Given the description of an element on the screen output the (x, y) to click on. 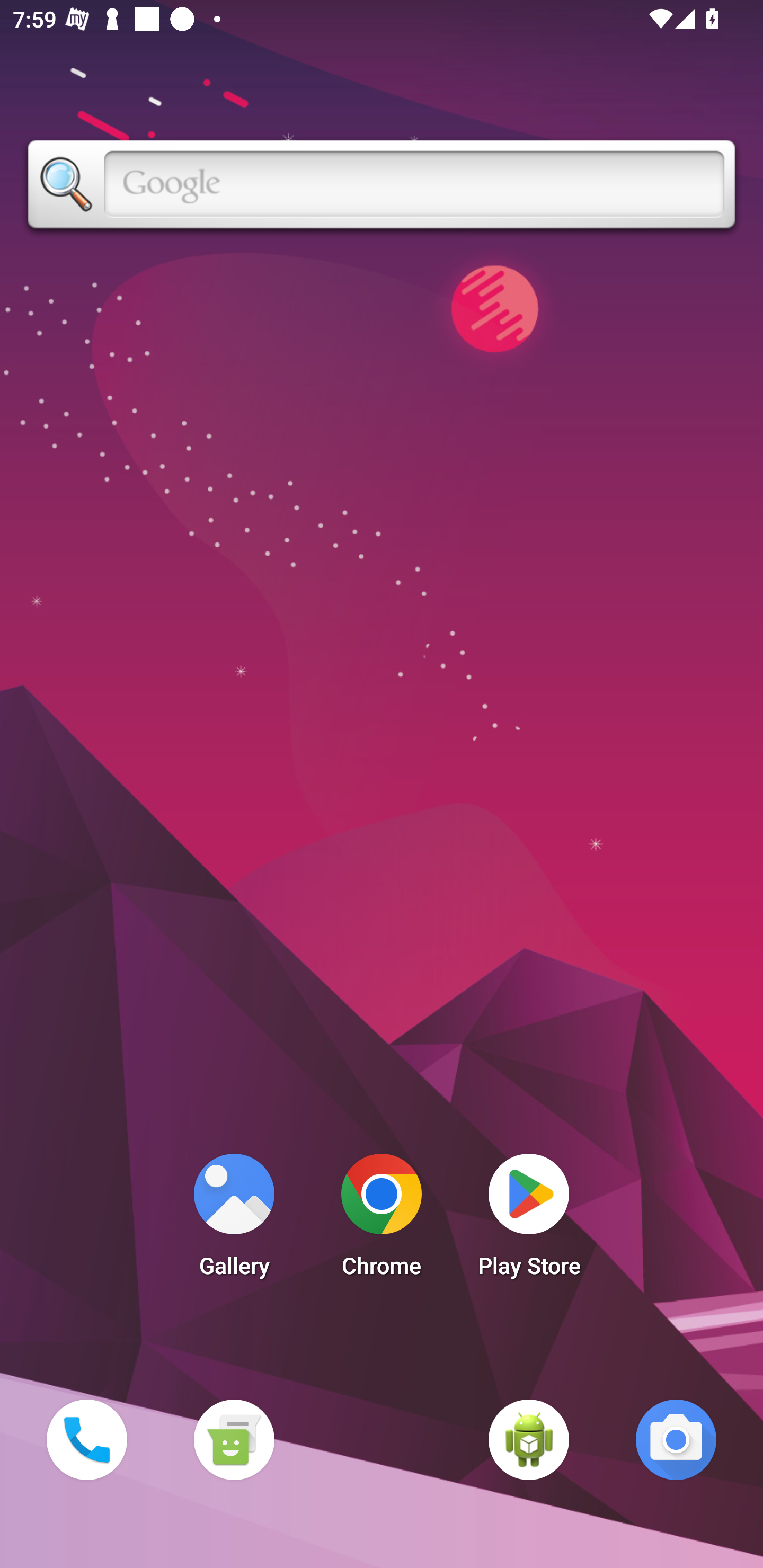
Gallery (233, 1220)
Chrome (381, 1220)
Play Store (528, 1220)
Phone (86, 1439)
Messaging (233, 1439)
WebView Browser Tester (528, 1439)
Camera (676, 1439)
